Given the description of an element on the screen output the (x, y) to click on. 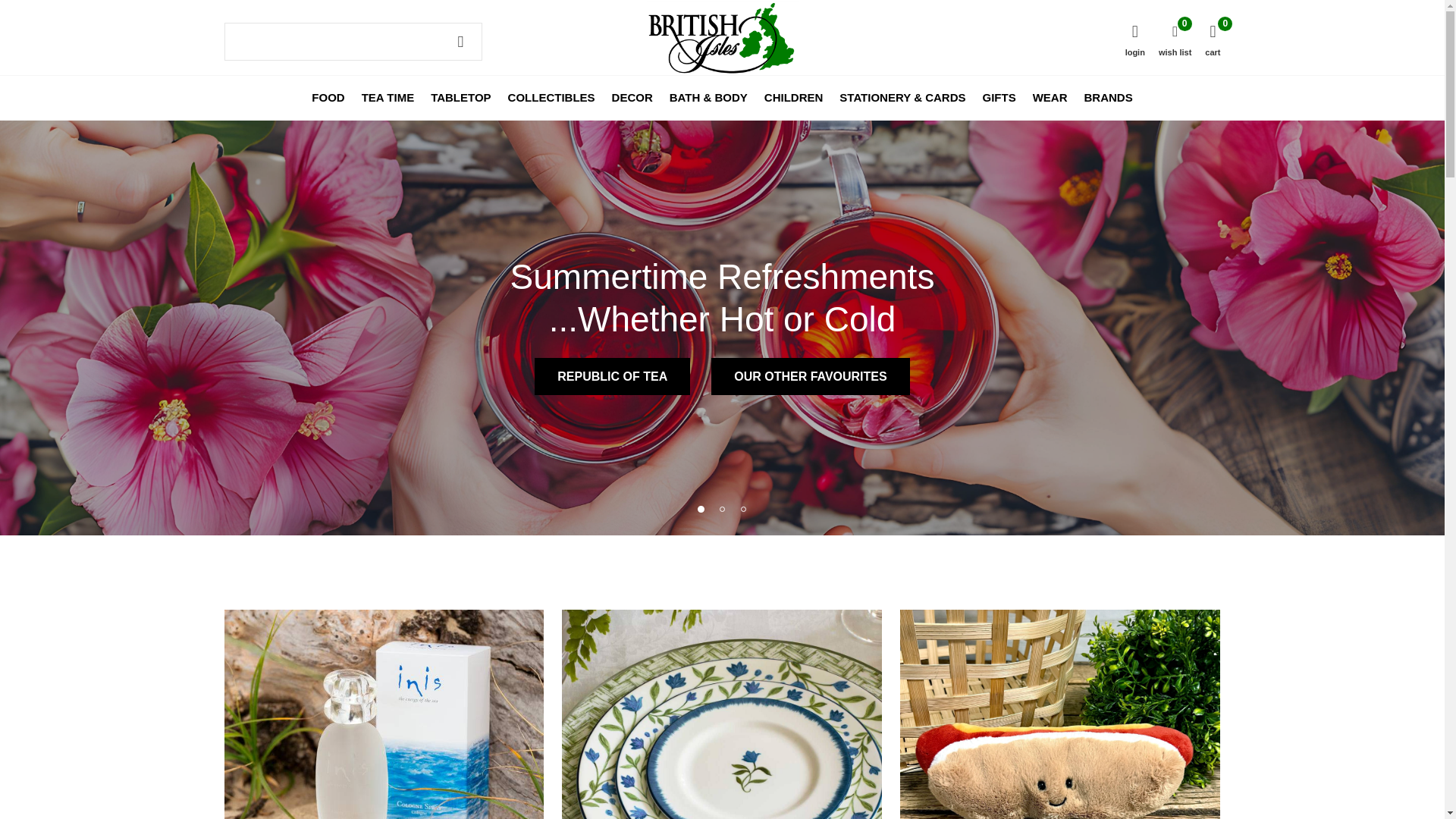
Input Search Field (352, 41)
Owl Slider Dots (743, 508)
Owl Slider Dots (700, 508)
FOOD (327, 96)
View Scents of Ireland (384, 714)
View Deliciously New Jellycat (1059, 714)
Owl Slider Dots (721, 508)
TEA TIME (387, 96)
